Given the description of an element on the screen output the (x, y) to click on. 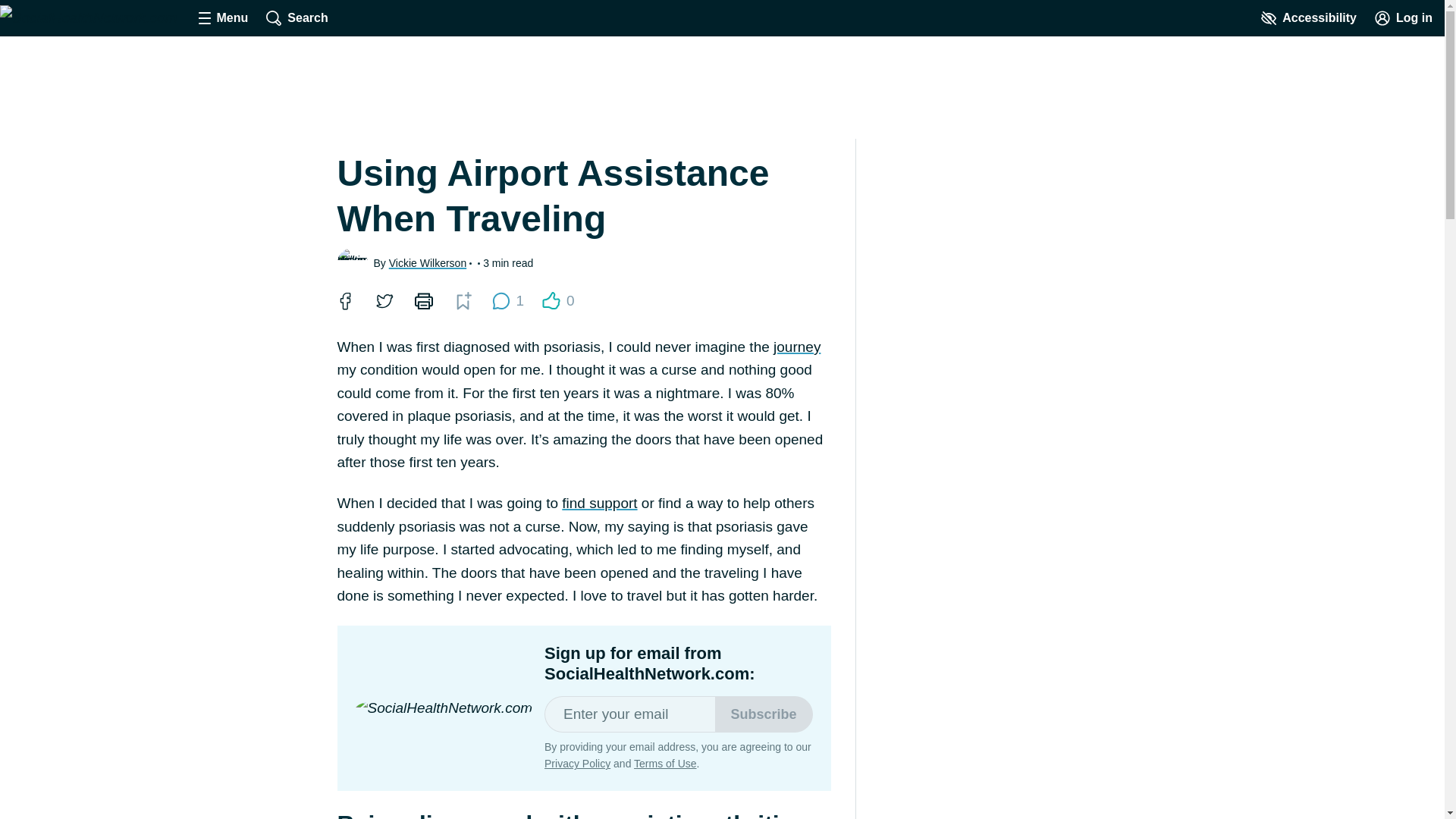
find support (599, 503)
print page (422, 300)
Privacy Policy (577, 763)
Share to Twitter (383, 300)
comment (500, 300)
Bookmark for later (462, 300)
print page (422, 300)
Reactions (550, 300)
Terms of Use (664, 763)
Log in (1403, 18)
